Given the description of an element on the screen output the (x, y) to click on. 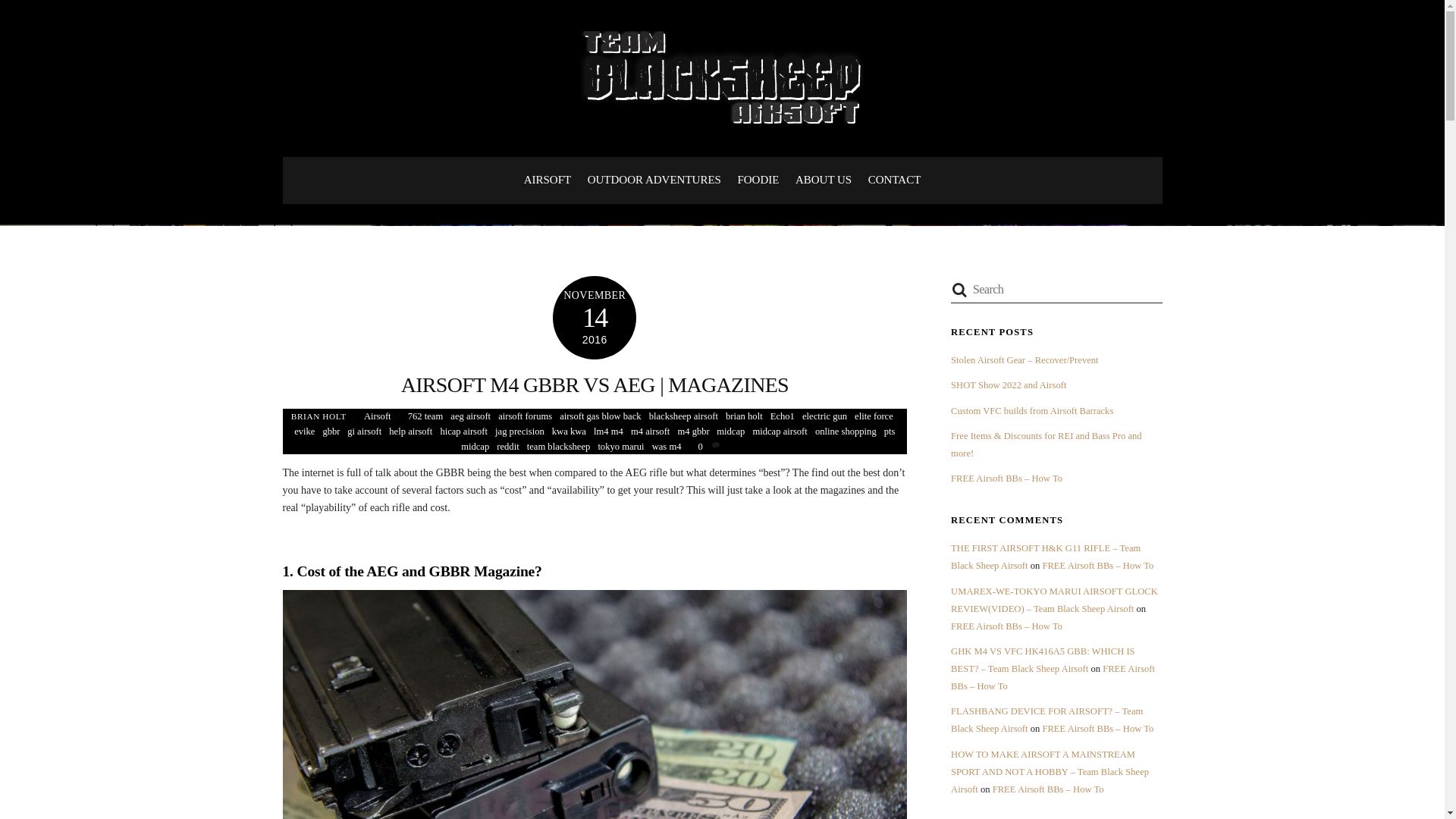
ABOUT US (824, 179)
brian holt (743, 416)
airsoft forums (524, 416)
tokyo marui (619, 446)
Echo1 (782, 416)
elite force (873, 416)
team blacksheep (559, 446)
FOODIE (758, 179)
jag precision (519, 430)
blacksheep airsoft (683, 416)
